Given the description of an element on the screen output the (x, y) to click on. 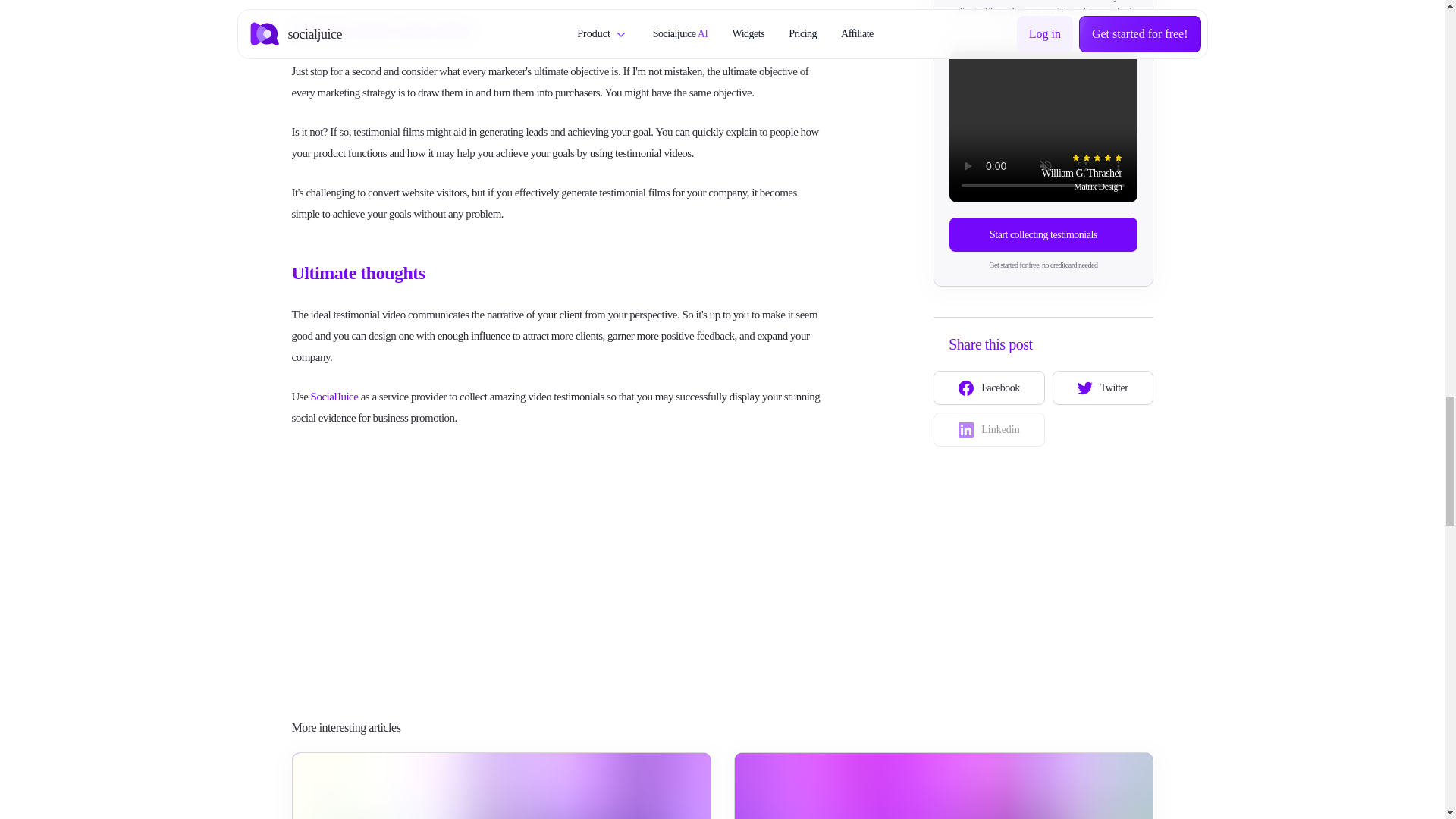
SocialJuice (334, 396)
